Given the description of an element on the screen output the (x, y) to click on. 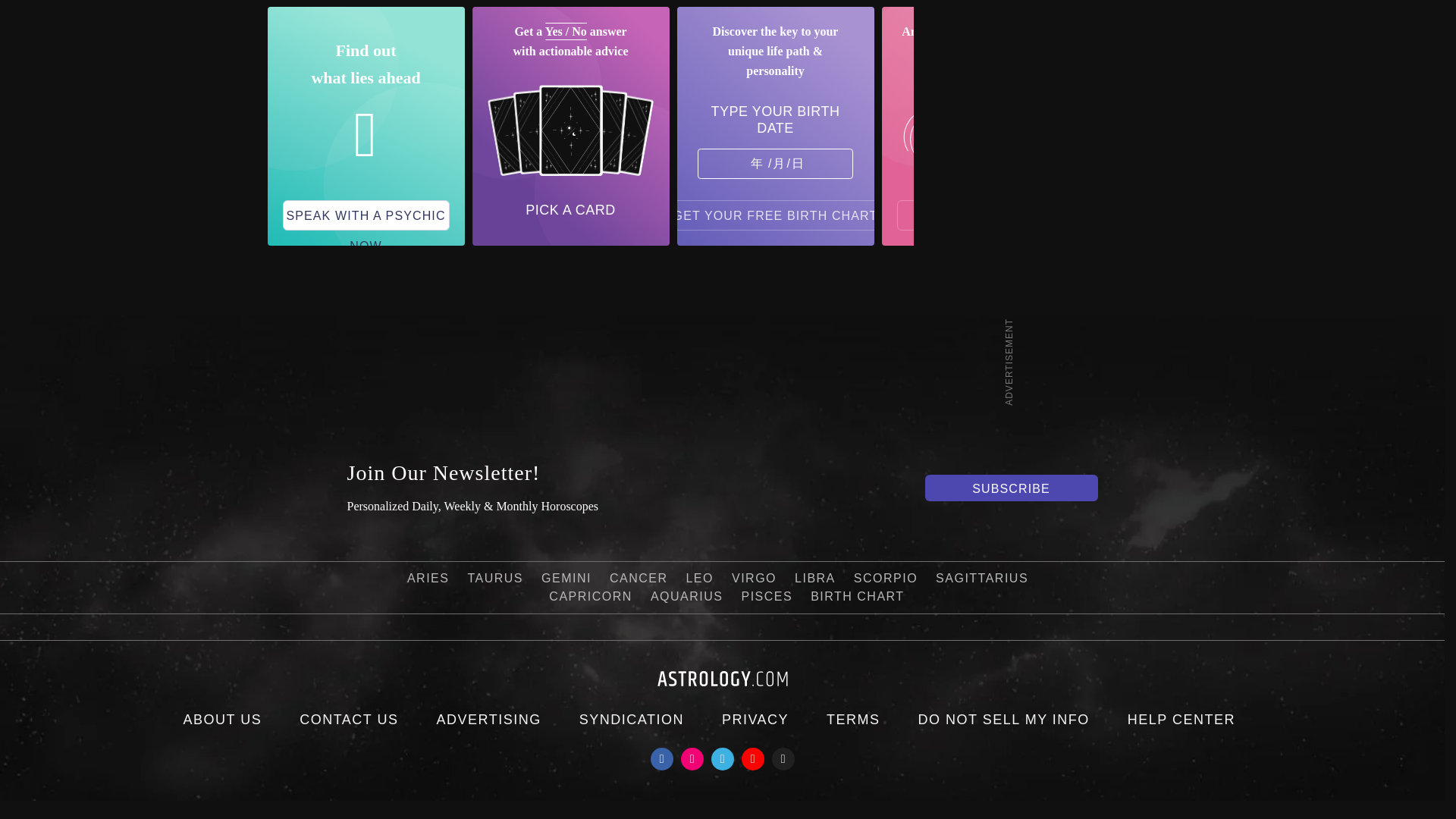
Get your free birth chart (775, 214)
